Given the description of an element on the screen output the (x, y) to click on. 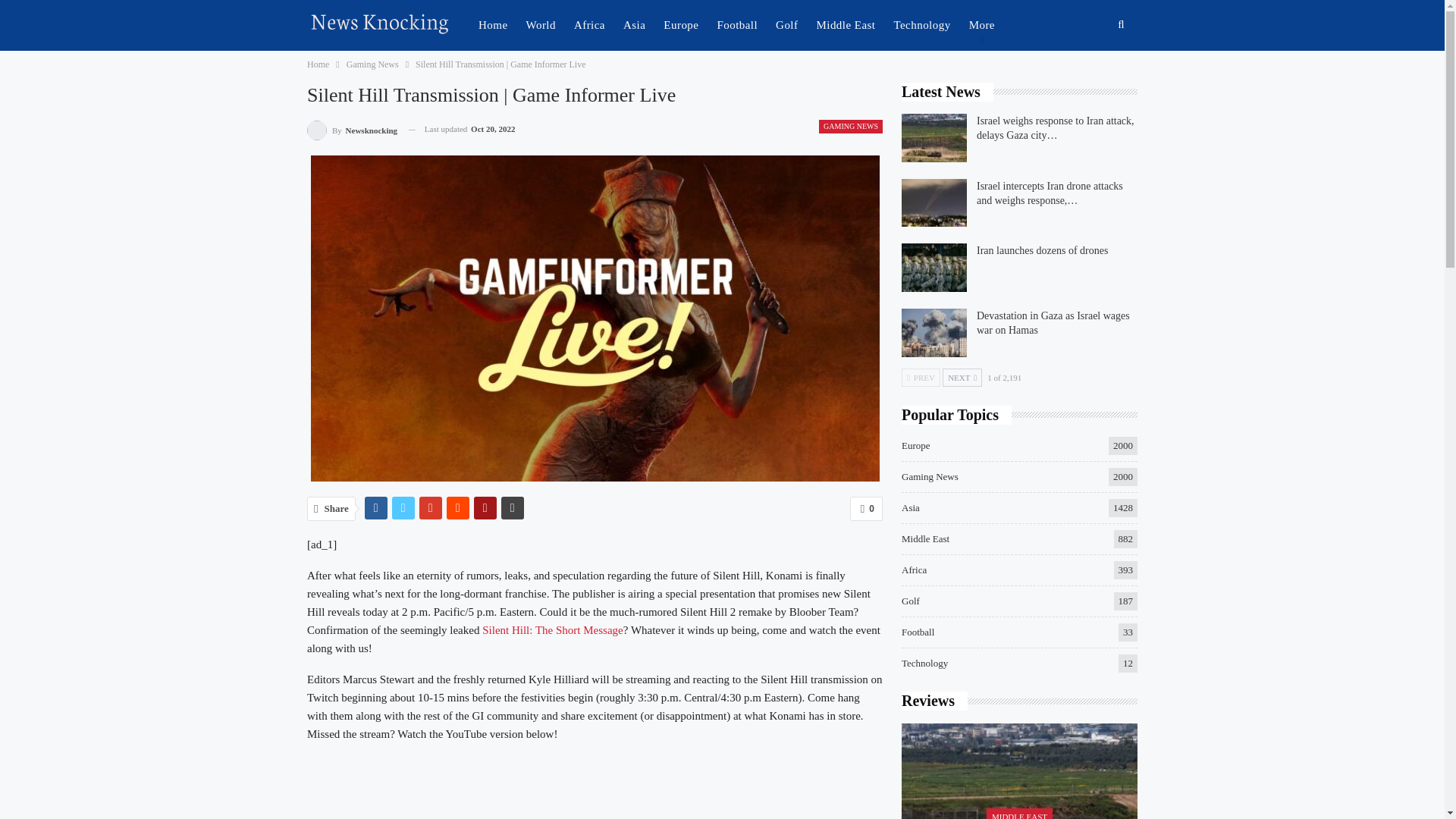
Football (736, 24)
Middle East (845, 24)
By Newsknocking (352, 128)
Home (318, 64)
Silent Hill: The Short Message (552, 630)
Technology (921, 24)
GAMING NEWS (850, 126)
Browse Author Articles (352, 128)
Europe (680, 24)
Gaming News (372, 64)
0 (866, 508)
